Given the description of an element on the screen output the (x, y) to click on. 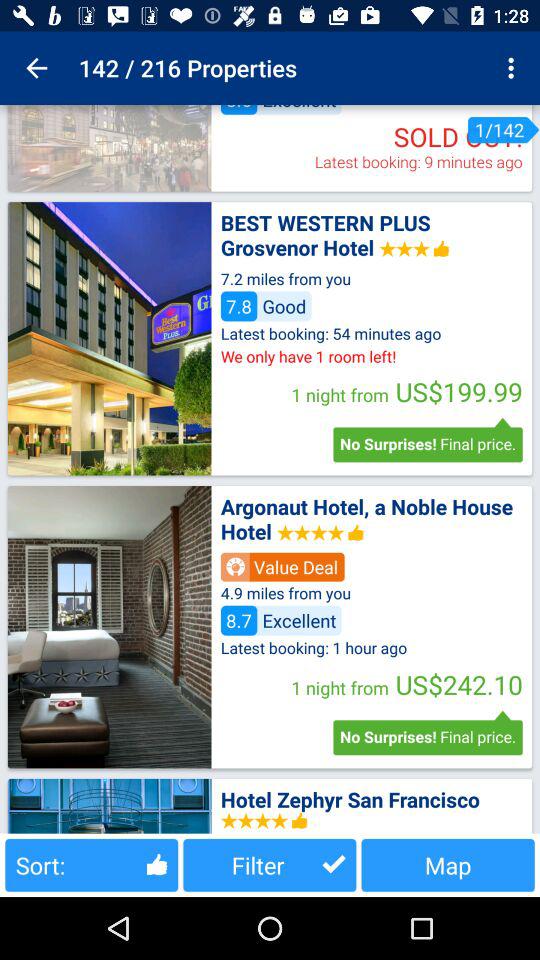
choose the item to the left of 142 / 216 properties (36, 68)
